Given the description of an element on the screen output the (x, y) to click on. 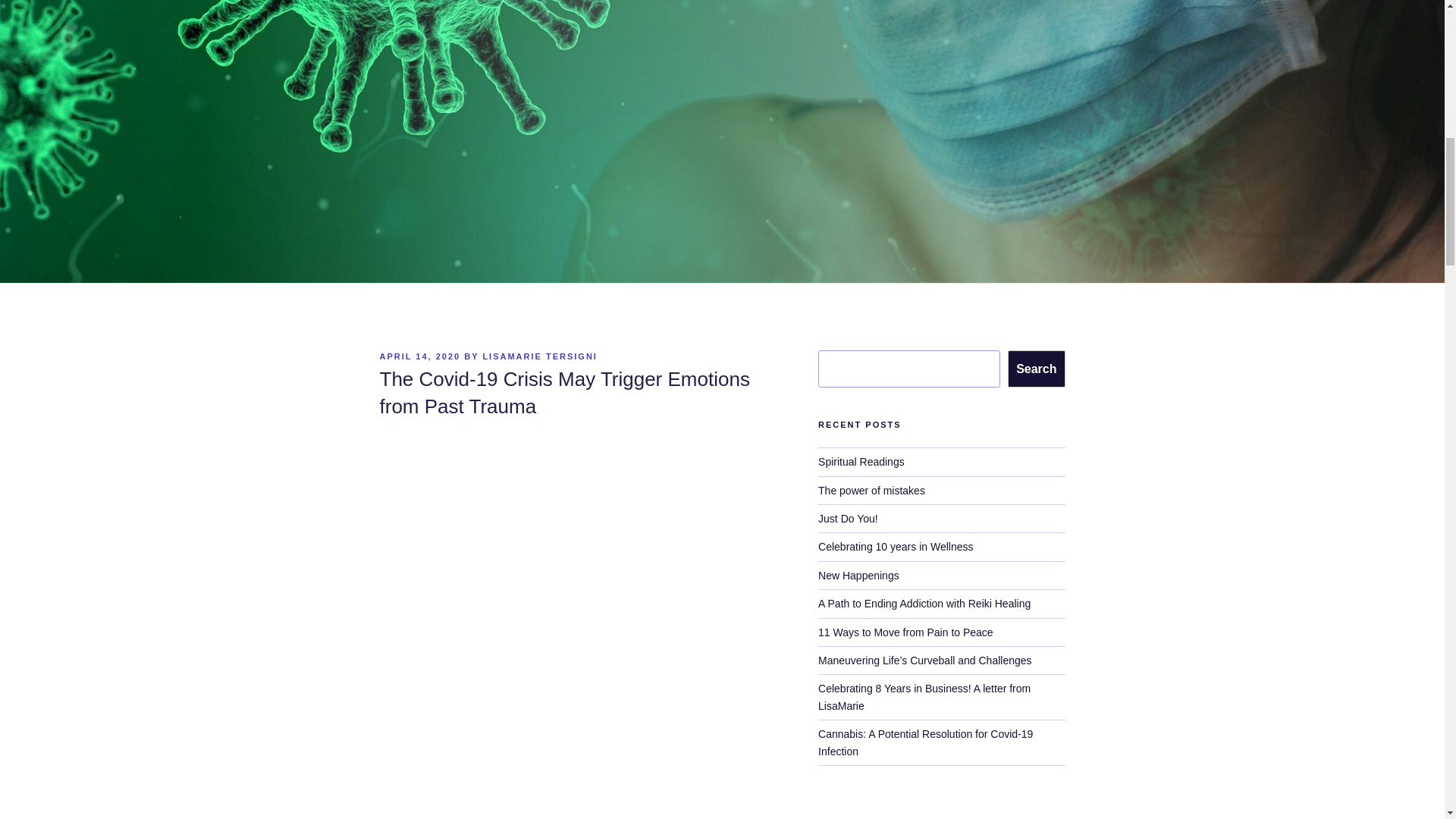
APRIL 14, 2020 (419, 356)
LISAMARIE TERSIGNI (538, 356)
